Given the description of an element on the screen output the (x, y) to click on. 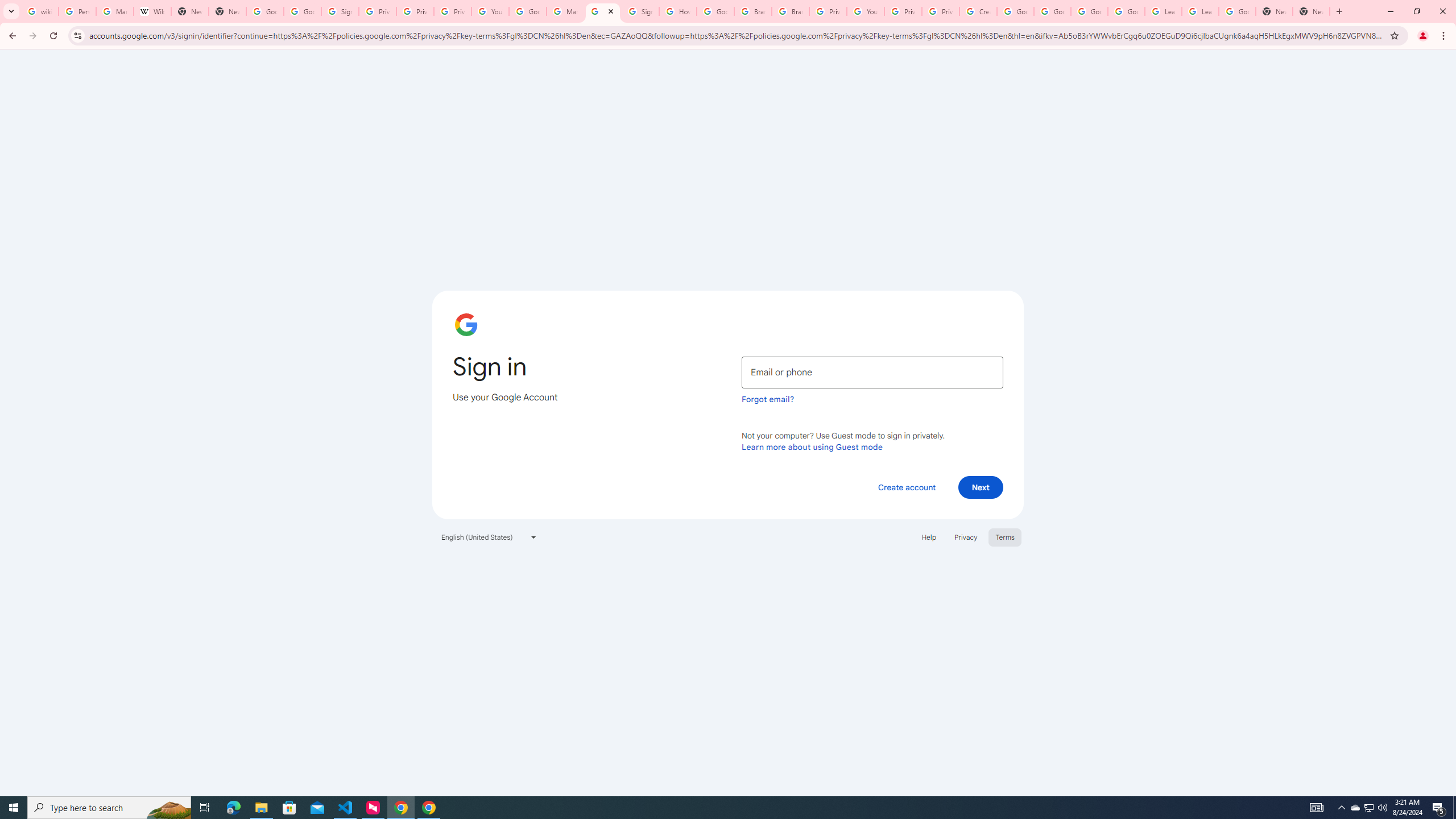
Google Drive: Sign-in (302, 11)
Sign in - Google Accounts (339, 11)
YouTube (865, 11)
Google Account Help (1015, 11)
Google Account Help (1052, 11)
